Given the description of an element on the screen output the (x, y) to click on. 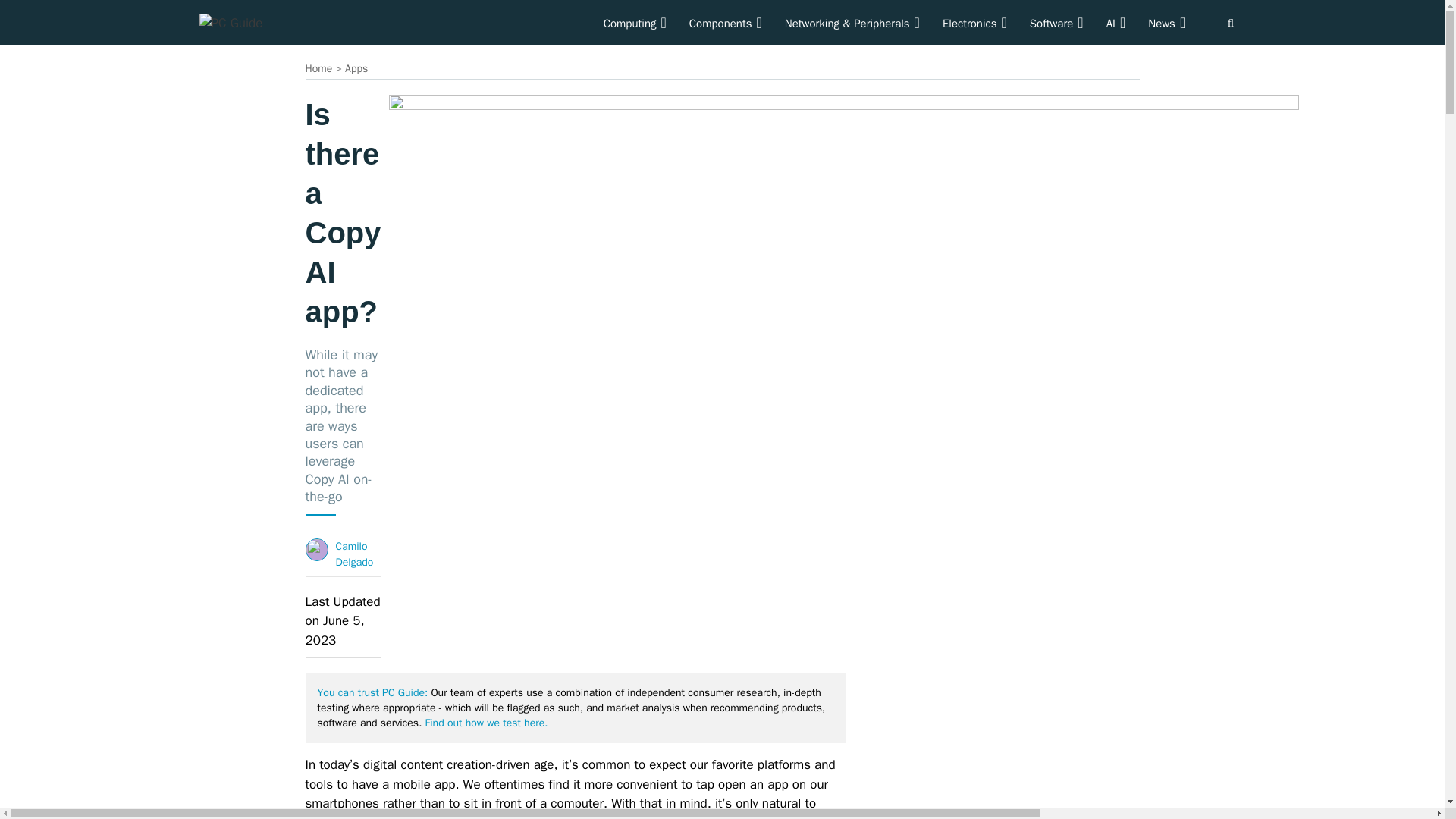
PC Guide (230, 22)
Computing (635, 22)
PC Guide (230, 23)
